Given the description of an element on the screen output the (x, y) to click on. 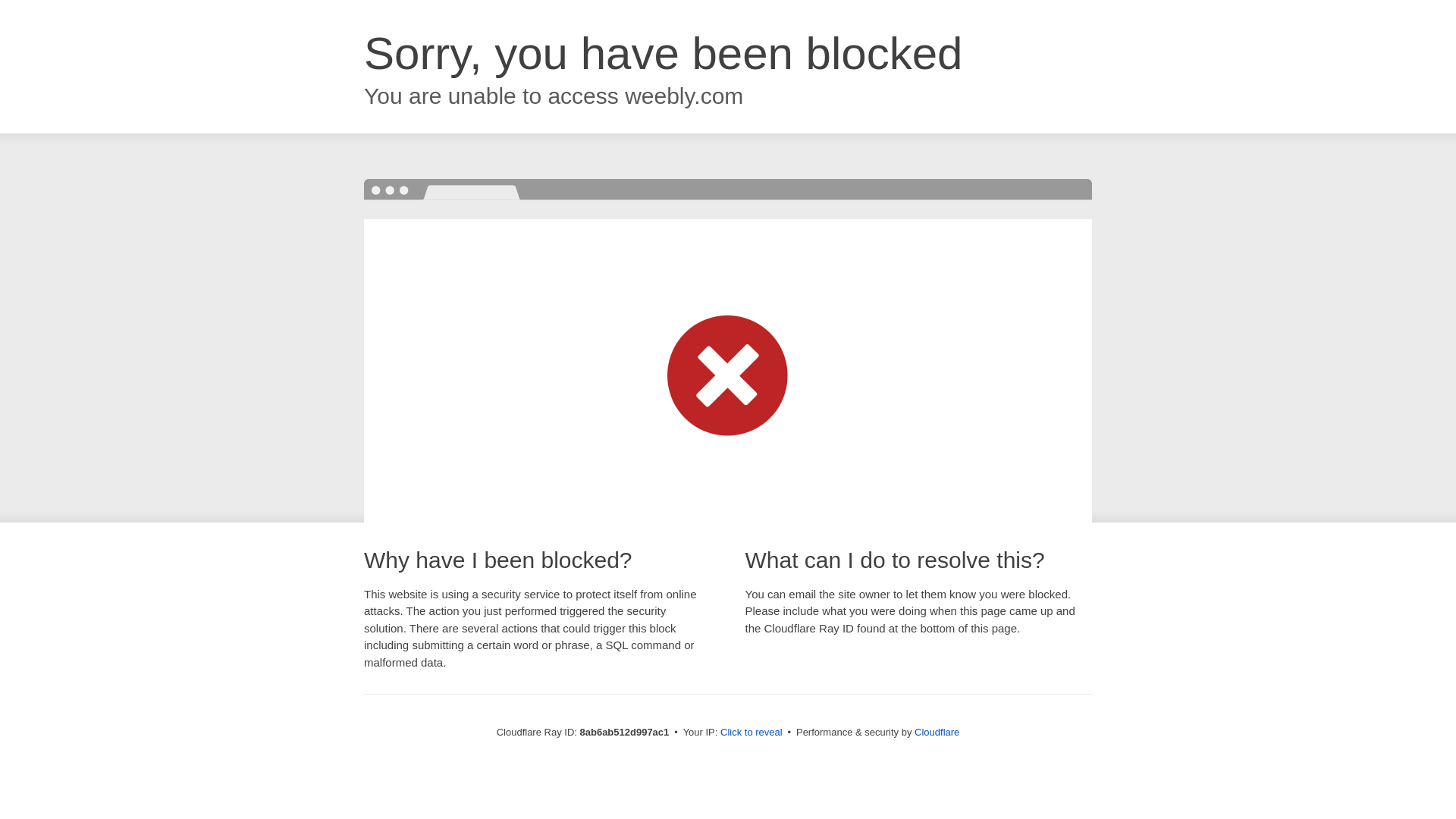
Click to reveal (751, 732)
Cloudflare (936, 731)
